Given the description of an element on the screen output the (x, y) to click on. 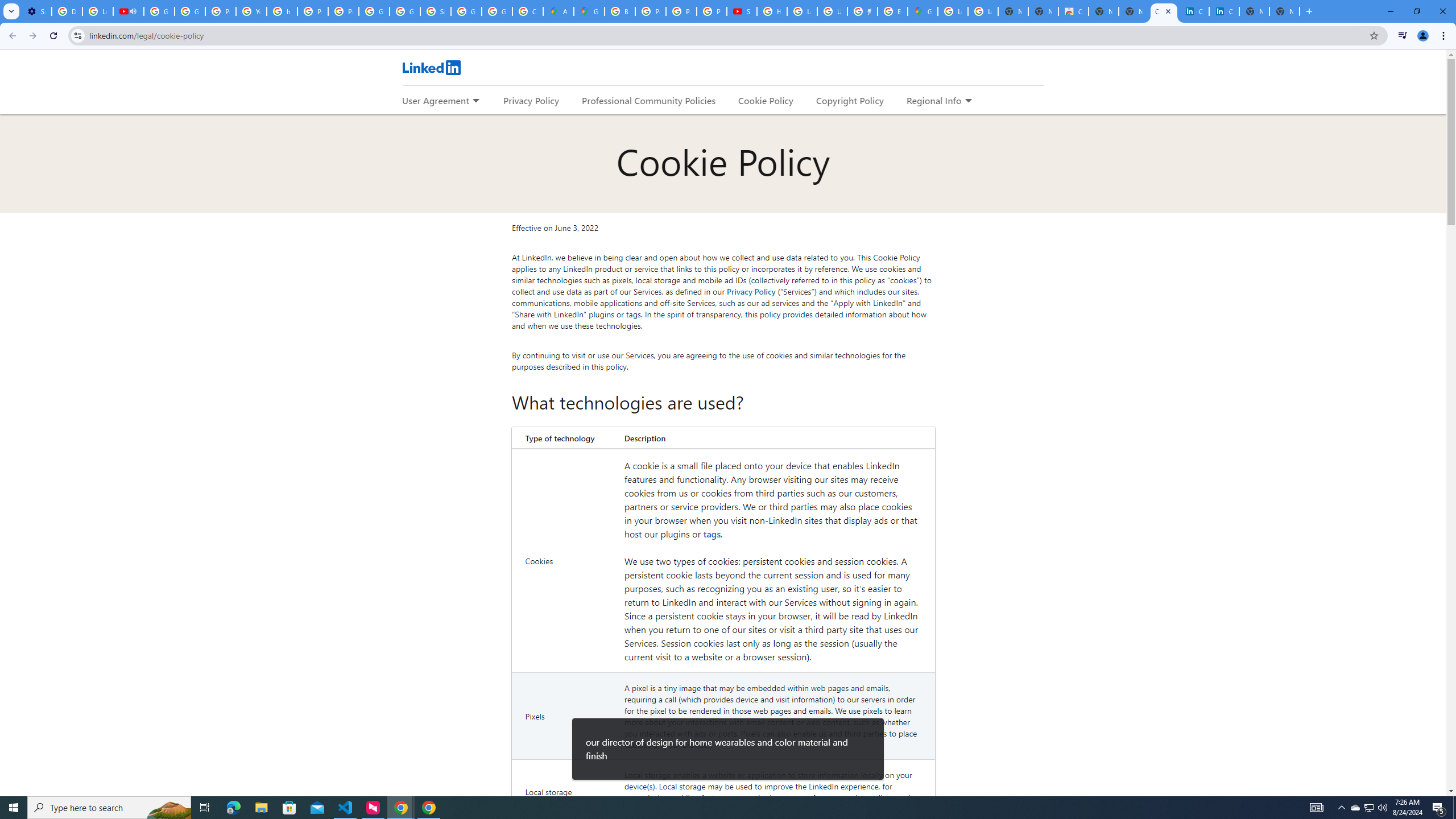
Blogger Policies and Guidelines - Transparency Center (619, 11)
Professional Community Policies (649, 100)
Explore new street-level details - Google Maps Help (892, 11)
Copyright Policy (1224, 11)
Privacy Help Center - Policies Help (220, 11)
Regional Info (933, 100)
Create your Google Account (527, 11)
Sign in - Google Accounts (434, 11)
Google Maps (589, 11)
User Agreement (434, 100)
